Given the description of an element on the screen output the (x, y) to click on. 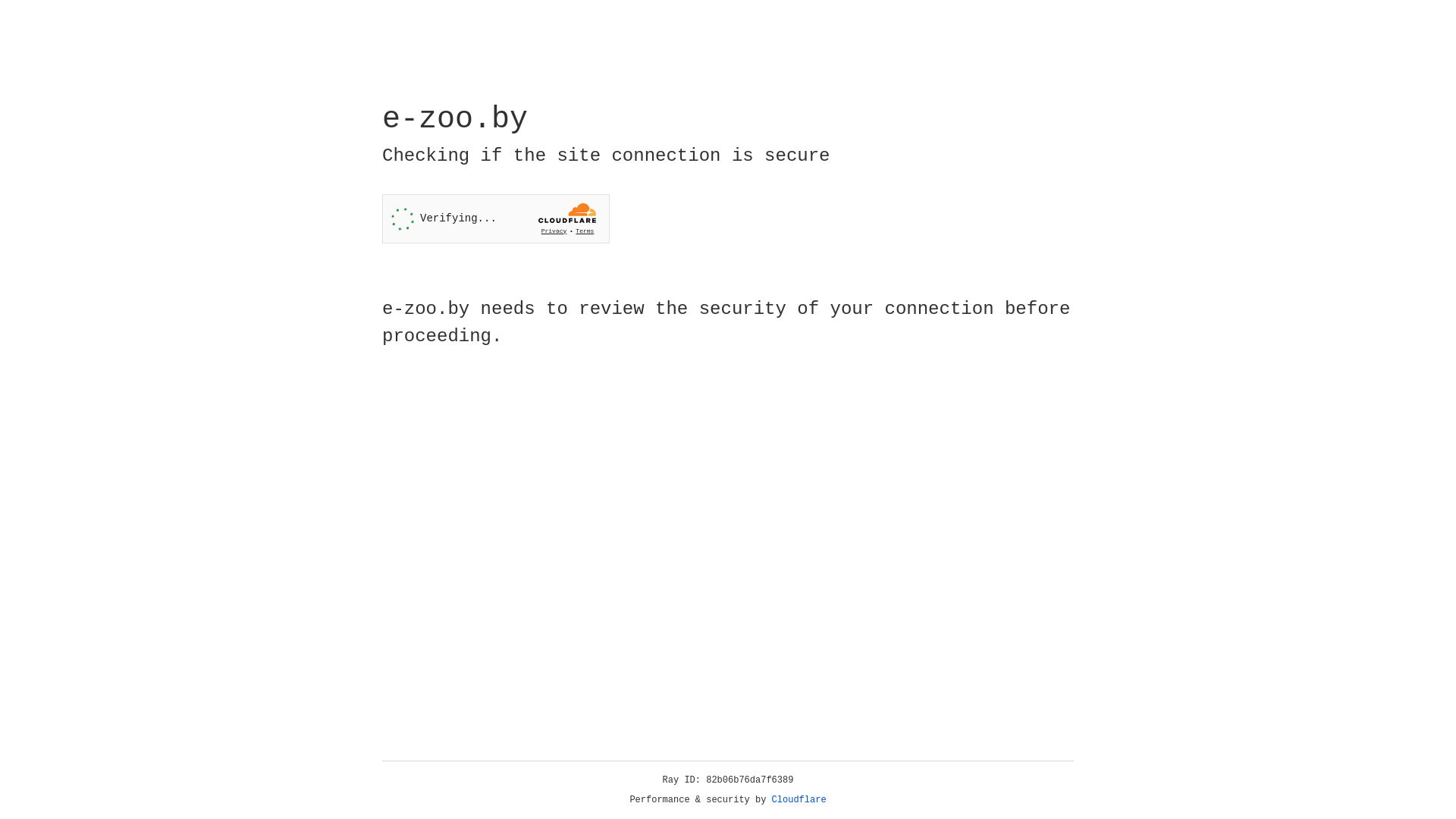
Widget containing a Cloudflare security challenge Element type: hover (495, 218)
Cloudflare Element type: text (798, 799)
